Given the description of an element on the screen output the (x, y) to click on. 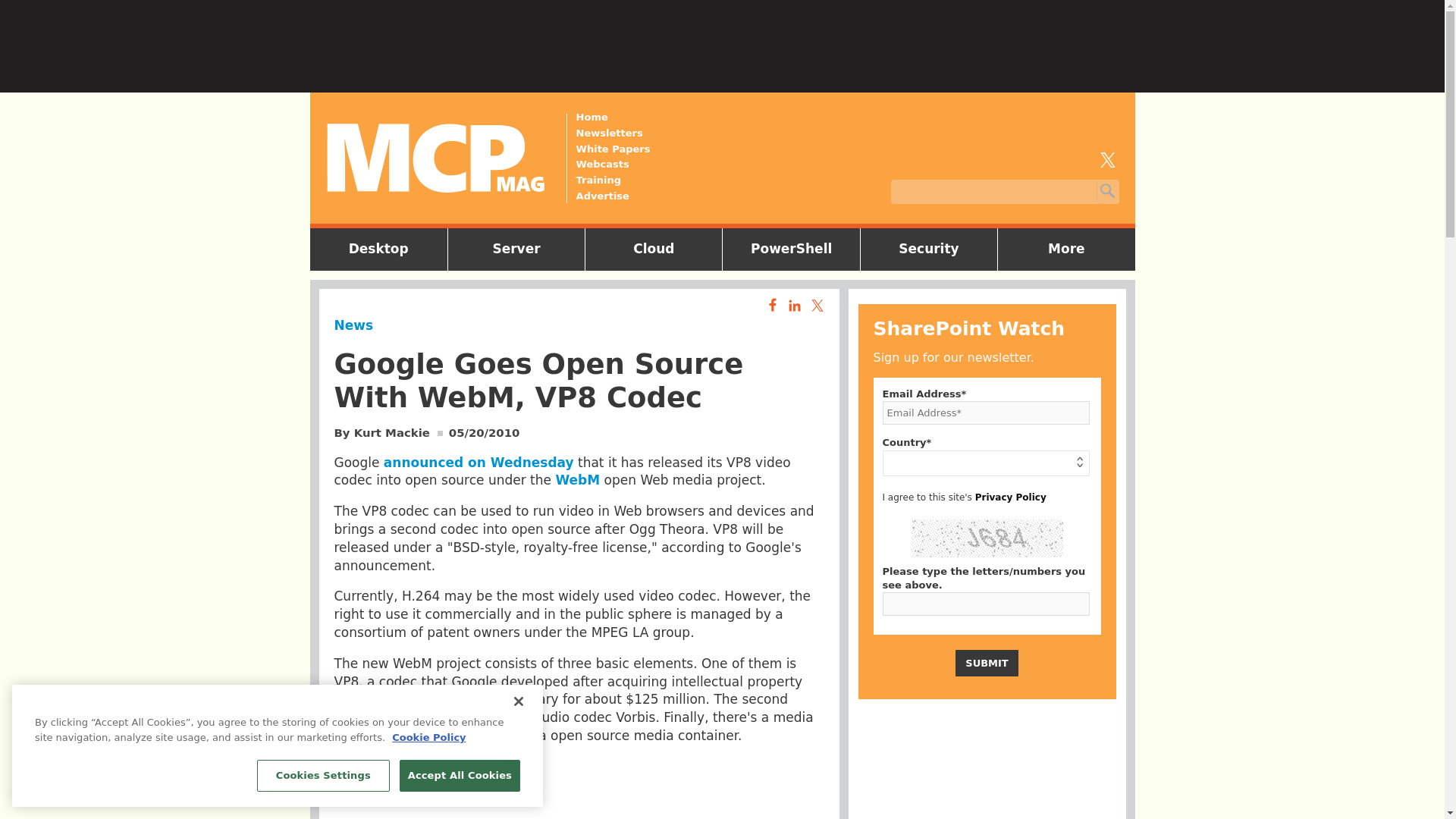
announced on Wednesday (478, 462)
Newsletters (613, 132)
Kurt Mackie (391, 432)
News (352, 324)
Privacy Policy (1010, 497)
Training (613, 180)
WebM (576, 479)
Server (515, 248)
Search (1105, 191)
Submit (986, 663)
Desktop (378, 248)
White Papers (613, 149)
Submit (986, 663)
Security (928, 248)
PowerShell (791, 248)
